Given the description of an element on the screen output the (x, y) to click on. 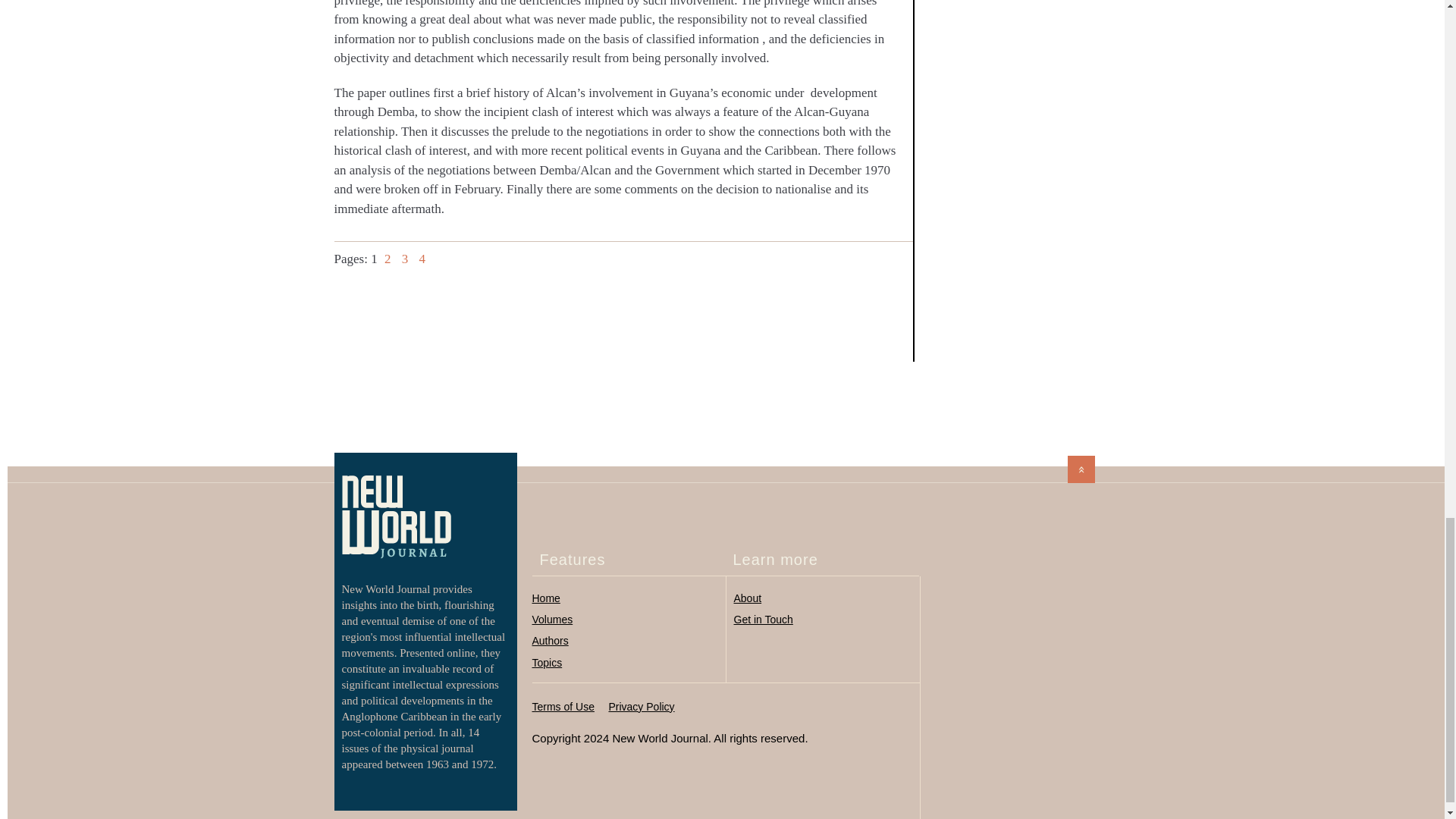
3 (404, 258)
2 (387, 258)
4 (421, 258)
